Given the description of an element on the screen output the (x, y) to click on. 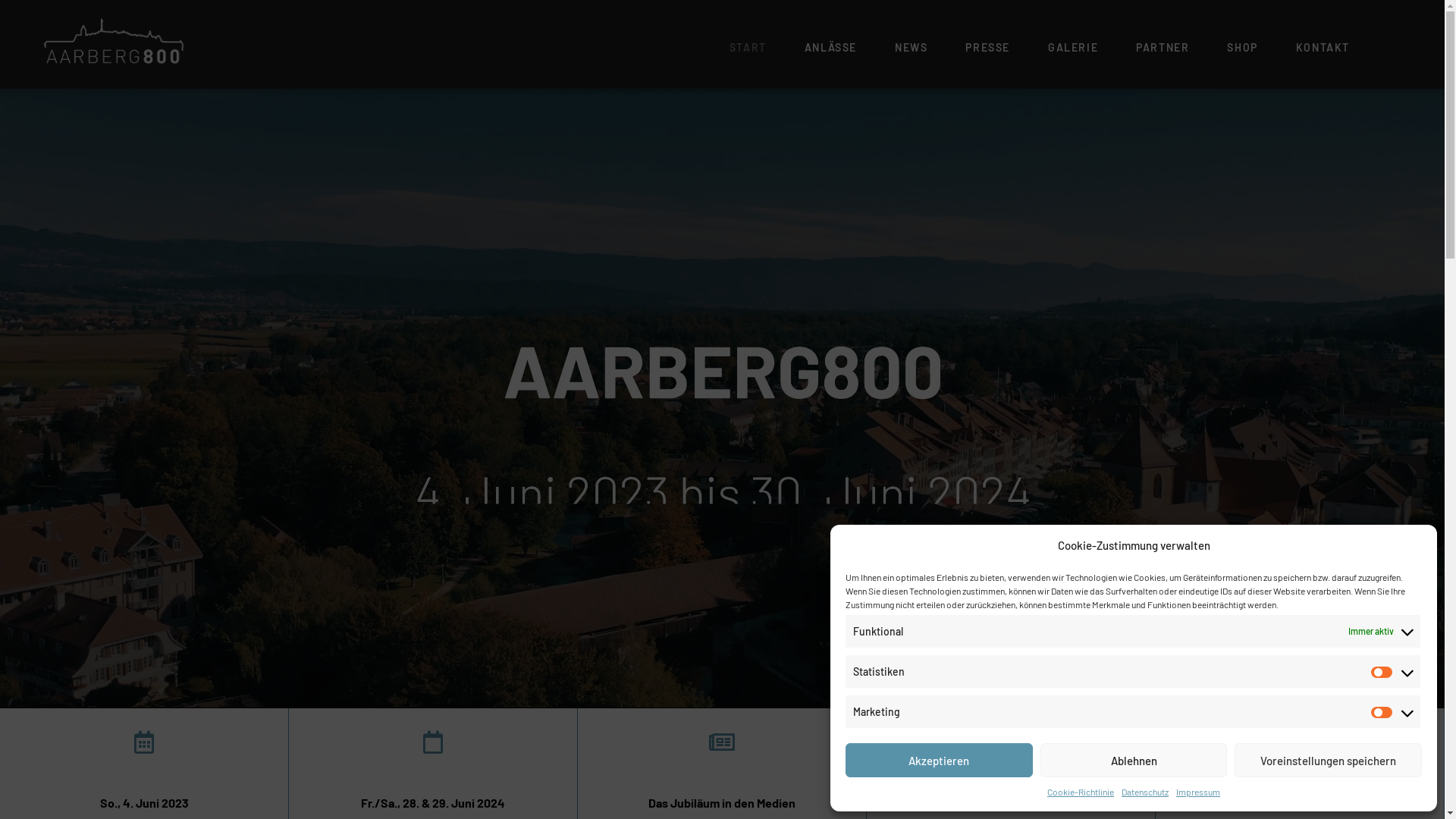
Voreinstellungen speichern Element type: text (1327, 760)
Startanlass Element type: text (143, 771)
Akzeptieren Element type: text (938, 760)
START Element type: text (747, 47)
NEWS Element type: text (910, 47)
Shop Element type: text (1010, 771)
GALERIE Element type: text (1073, 47)
PRESSE Element type: text (987, 47)
SHOP Element type: text (1242, 47)
Impressum Element type: text (1198, 792)
Datenschutz Element type: text (1144, 792)
KONTAKT Element type: text (1322, 47)
Cookie-Richtlinie Element type: text (1080, 792)
Presse Element type: text (721, 771)
Ablehnen Element type: text (1133, 760)
PARTNER Element type: text (1162, 47)
